Given the description of an element on the screen output the (x, y) to click on. 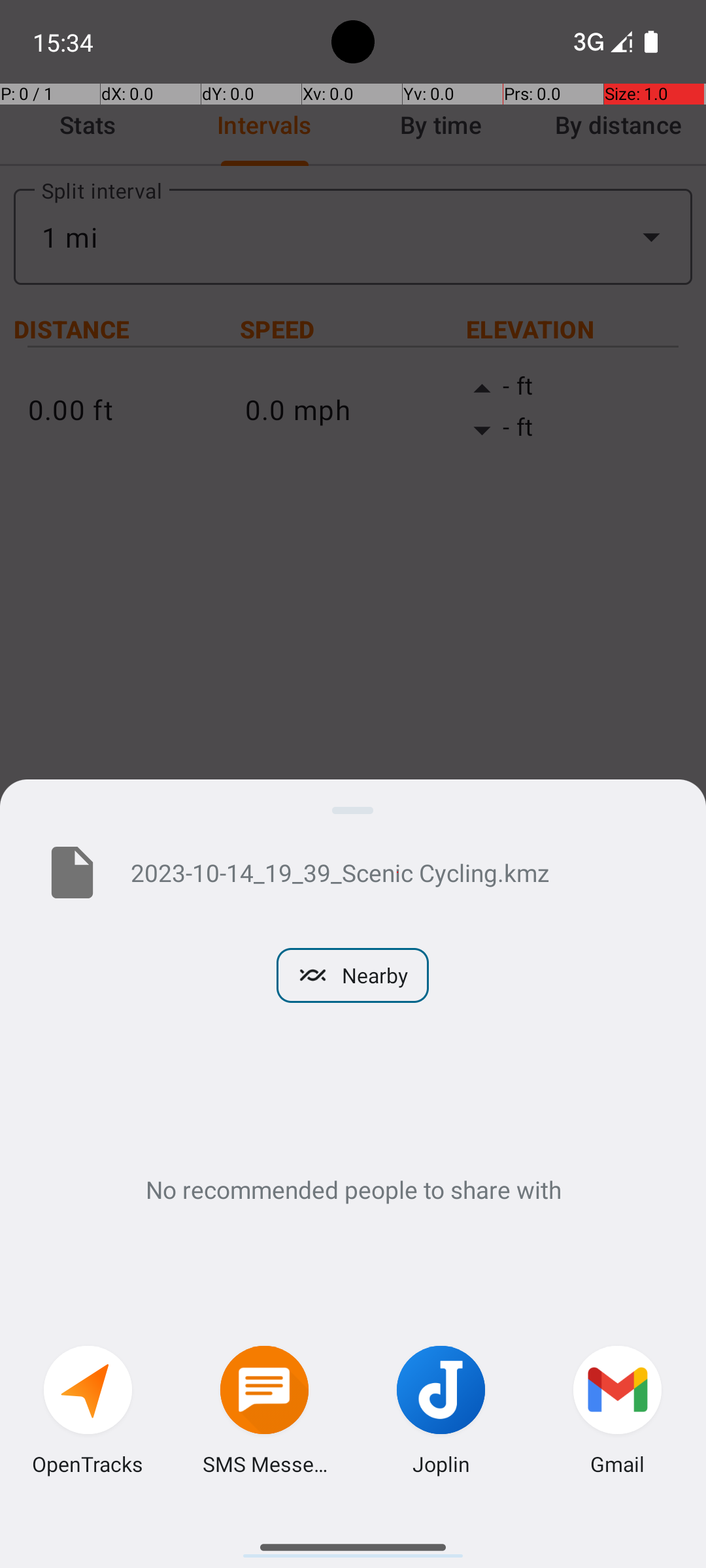
2023-10-14_19_39_Scenic Cycling.kmz Element type: android.widget.TextView (397, 872)
